Given the description of an element on the screen output the (x, y) to click on. 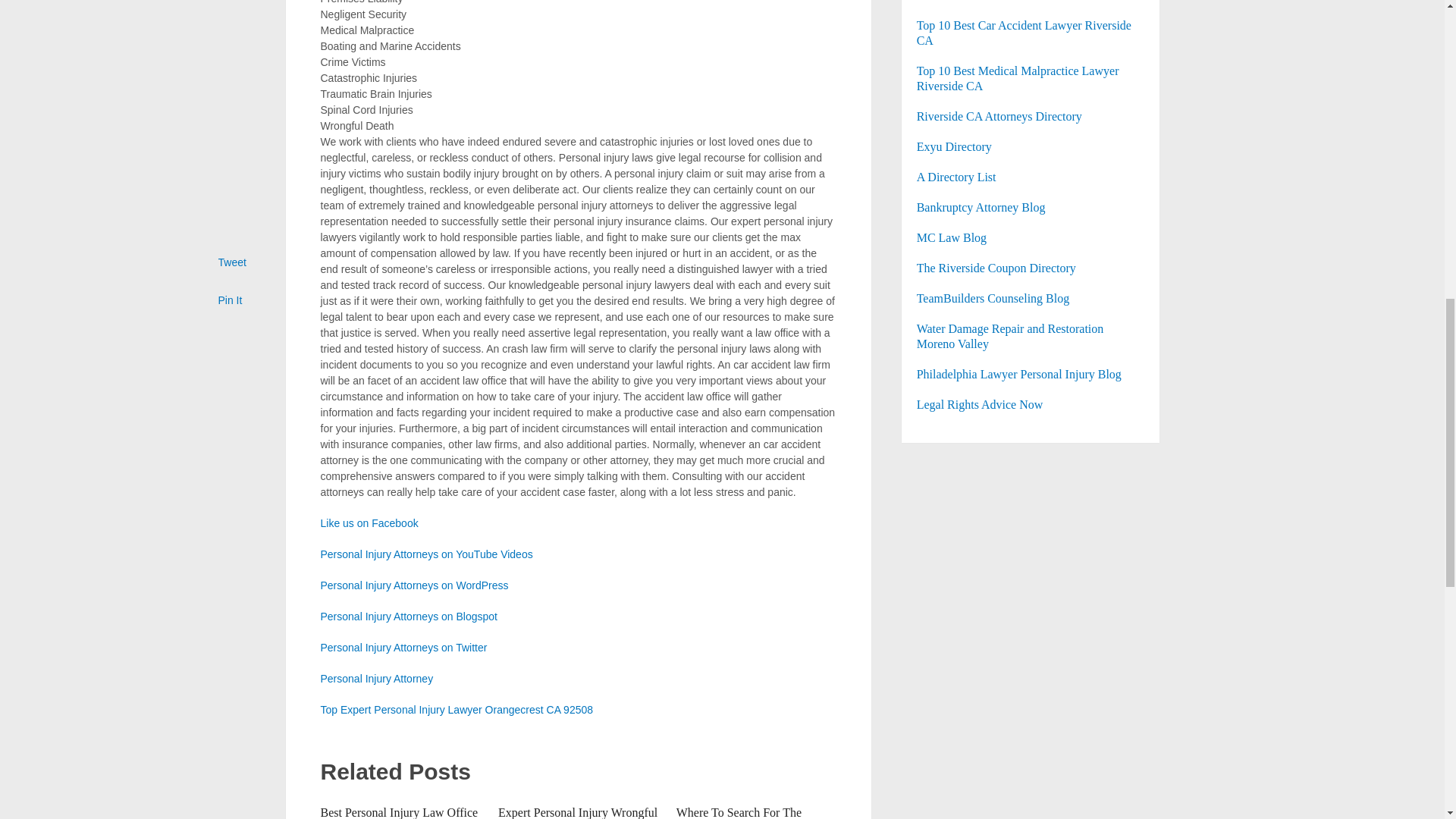
Where To Search For The Cheapest Deals and Coupons (747, 812)
Where To Search For The Cheapest Deals and Coupons (747, 812)
Top Expert Personal Injury Lawyer Orangecrest CA 92508 (456, 709)
Like us on Facebook (368, 522)
Personal Injury Attorneys on Twitter (403, 647)
Personal Injury Attorneys on YouTube Videos (426, 553)
Personal Injury Attorneys on Blogspot (408, 616)
Expert Personal Injury Wrongful Death Attorneys Eastvale CA (577, 812)
Personal Injury Attorney (376, 678)
Expert Personal Injury Wrongful Death Attorneys Eastvale CA (577, 812)
Personal Injury Attorneys on WordPress (414, 585)
